Given the description of an element on the screen output the (x, y) to click on. 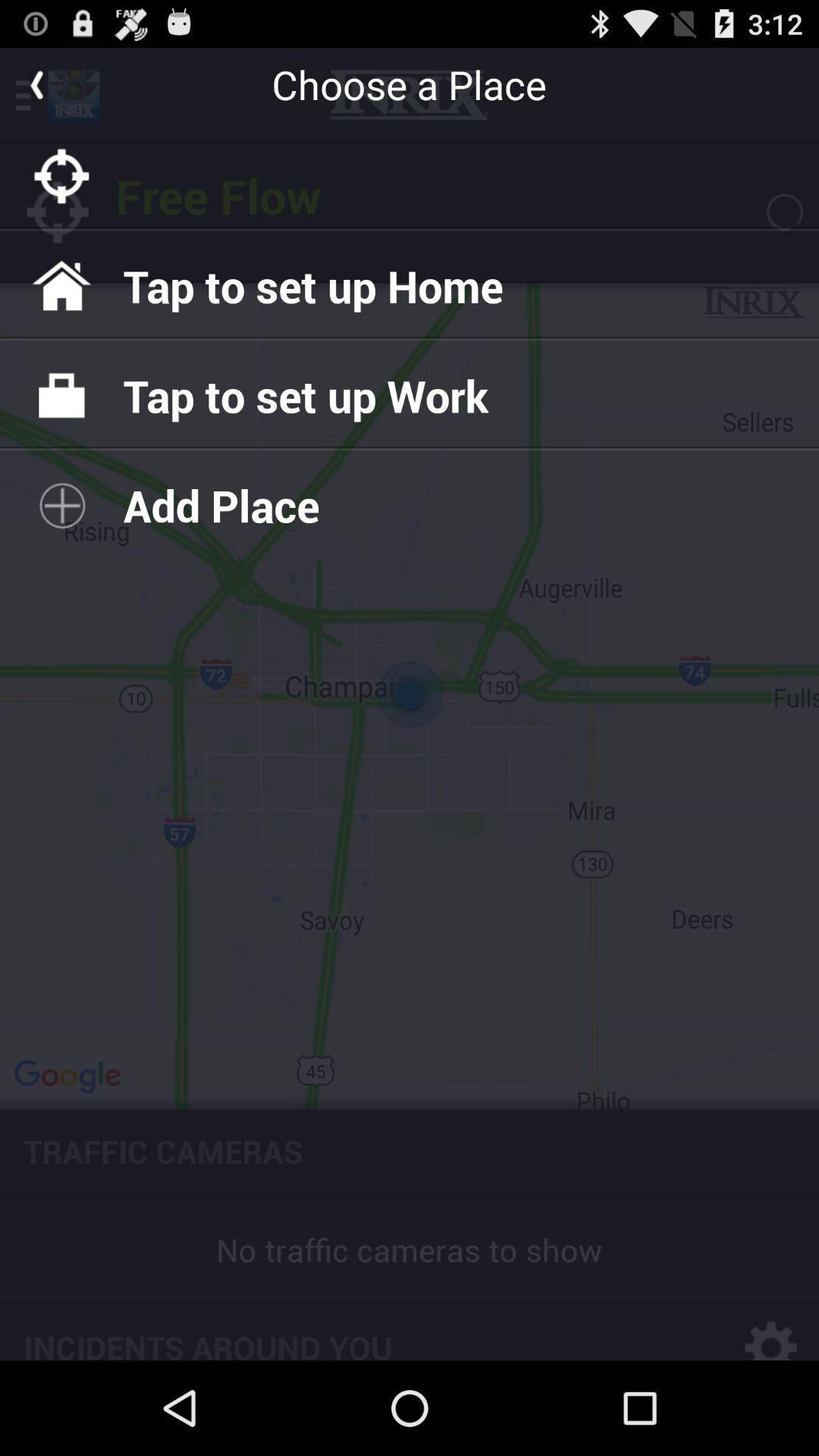
tap icon to the left of the choose a place app (35, 84)
